Given the description of an element on the screen output the (x, y) to click on. 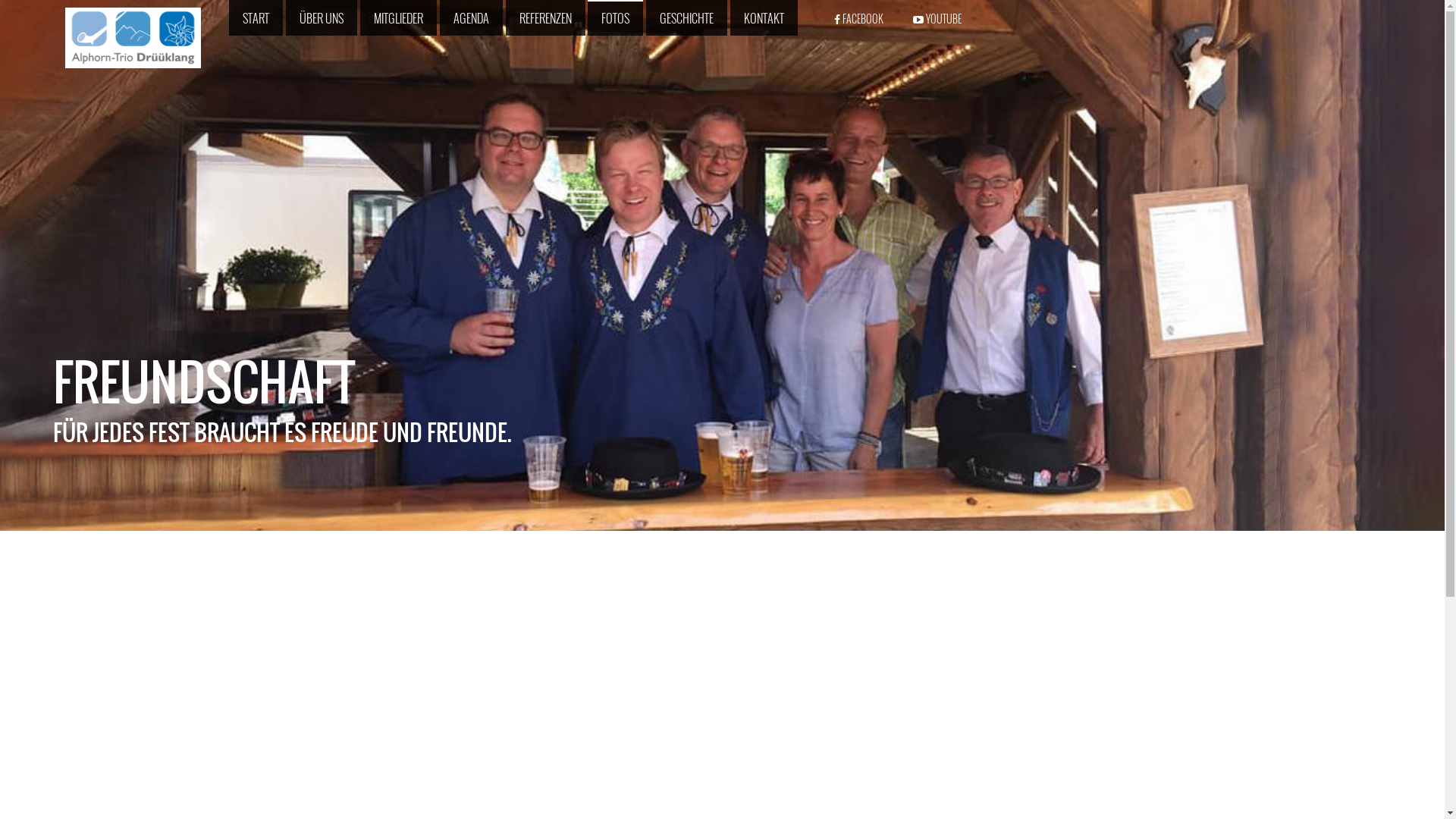
KONTAKT Element type: text (763, 18)
AGENDA Element type: text (470, 18)
REFERENZEN Element type: text (545, 18)
GESCHICHTE Element type: text (686, 18)
FACEBOOK Element type: text (854, 17)
START Element type: text (255, 18)
YOUTUBE Element type: text (932, 17)
MITGLIEDER Element type: text (398, 18)
FOTOS Element type: text (615, 18)
